Given the description of an element on the screen output the (x, y) to click on. 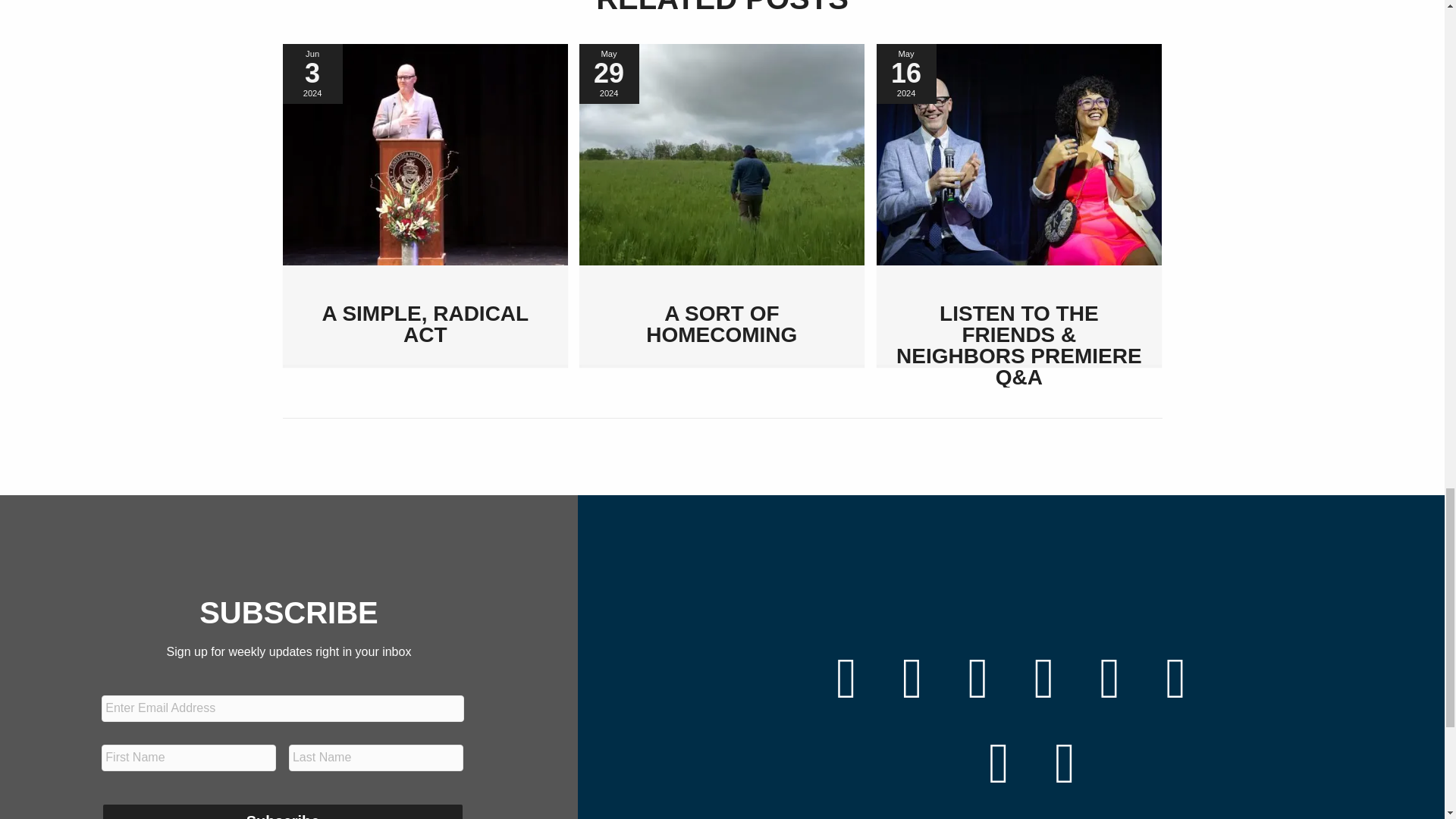
A Simple, Radical Act (424, 324)
View Box Content (721, 204)
A SIMPLE, RADICAL ACT (424, 324)
A Sort Of Homecoming (721, 324)
Subscribe (282, 811)
Subscribe (282, 811)
A Simple, Radical Act (424, 153)
View Box Content (1018, 204)
A SORT OF HOMECOMING (721, 324)
A Sort Of Homecoming (721, 153)
